Given the description of an element on the screen output the (x, y) to click on. 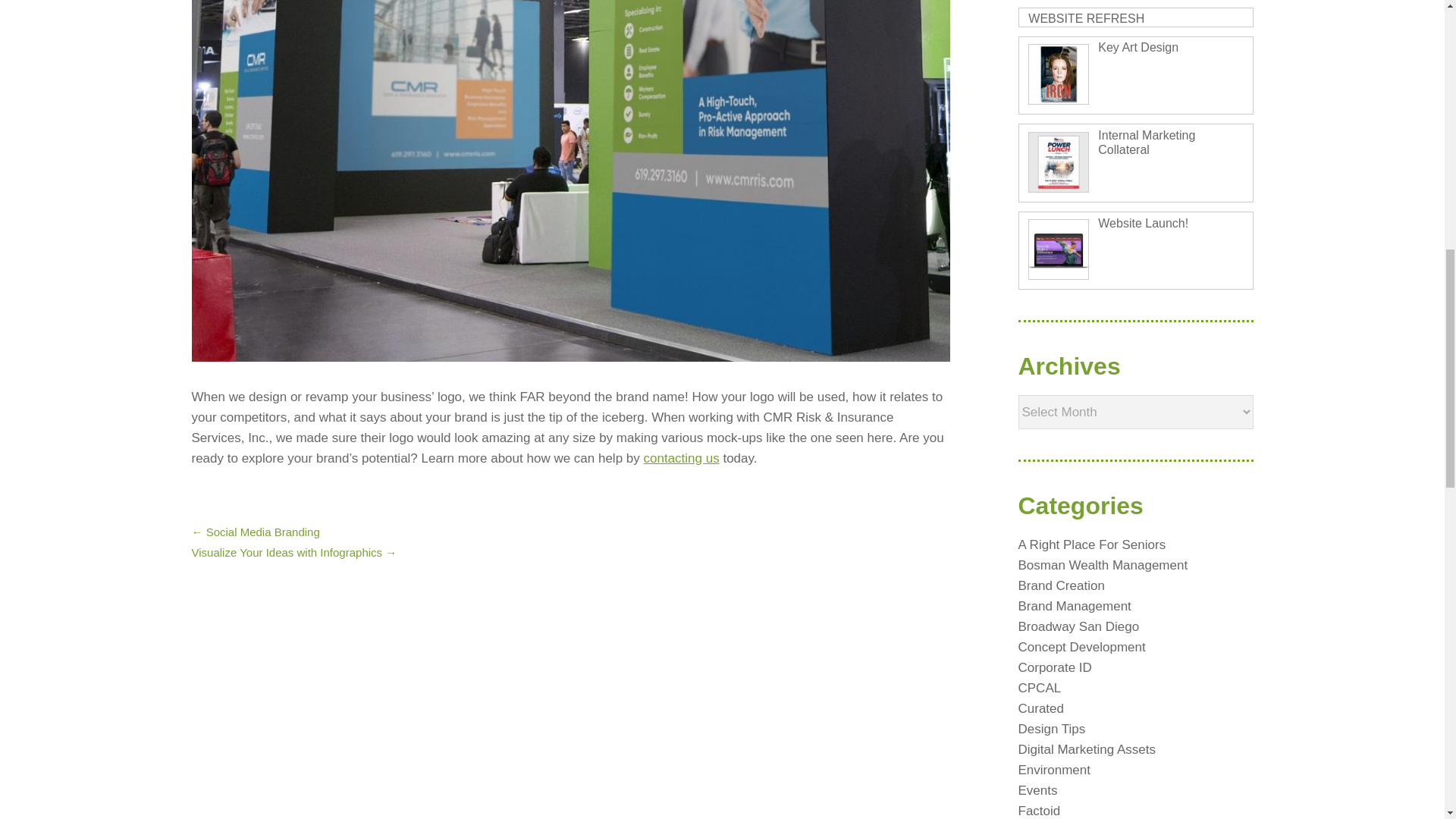
A Right Place For Seniors (1091, 544)
Concept Development (1080, 646)
contacting us (681, 458)
Internal Marketing Collateral (1146, 142)
Key Art Design (1137, 47)
Brand Management (1074, 605)
WEBSITE REFRESH (1085, 18)
Broadway San Diego (1077, 626)
Website Launch! (1142, 223)
Bosman Wealth Management (1102, 564)
Corporate ID (1053, 667)
Brand Creation (1060, 585)
CPCAL (1039, 687)
